Given the description of an element on the screen output the (x, y) to click on. 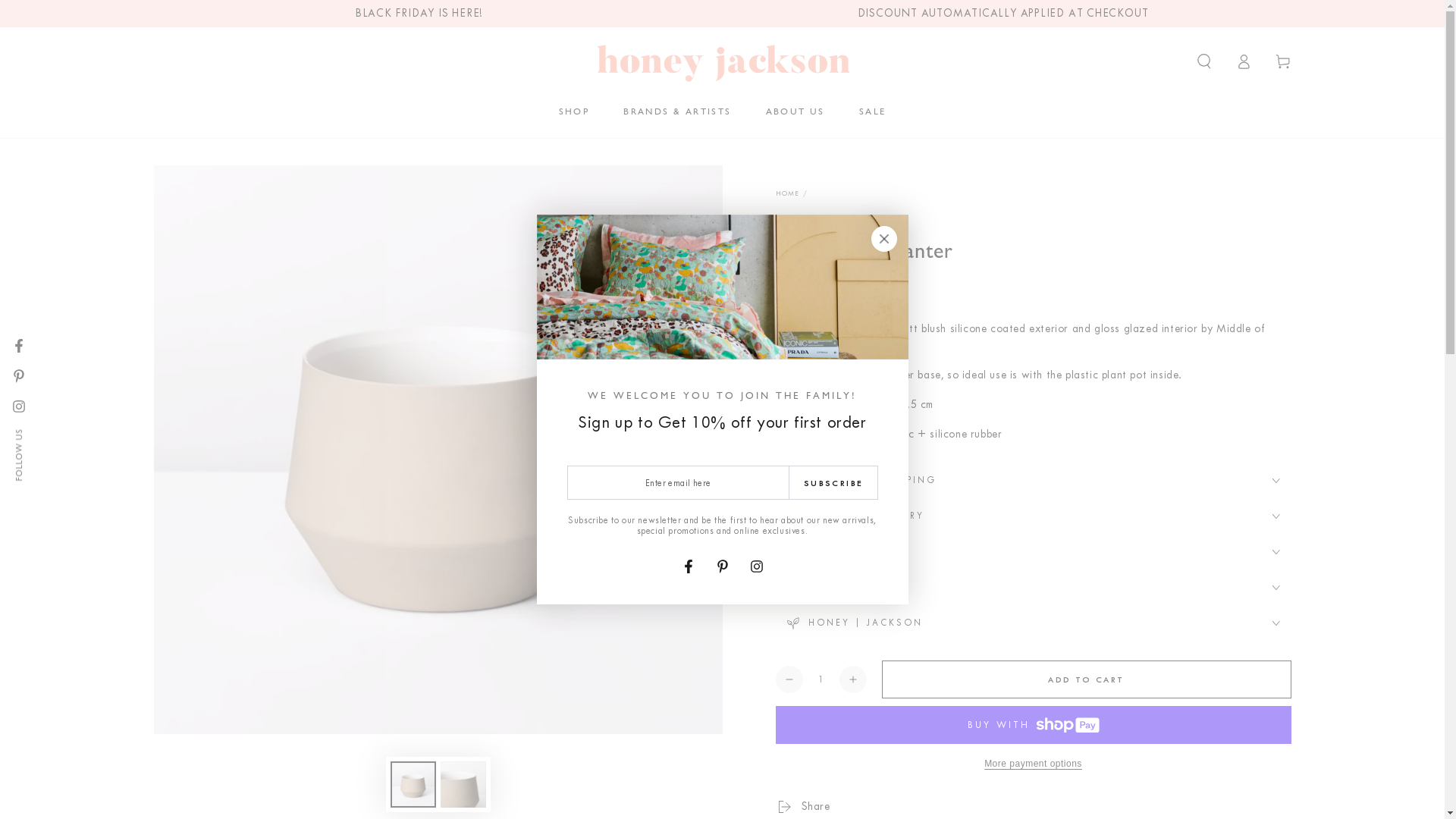
Honey Jackson Delivery Element type: hover (1077, 761)
More payment options Element type: text (1032, 763)
Increase quantity for Samso Sand Planter Element type: text (852, 679)
Facebook Element type: text (688, 566)
SHOP Element type: text (574, 111)
Honey Jackson Shipping Element type: hover (1042, 724)
Pinterest Element type: text (721, 566)
Log in Element type: text (1243, 61)
BLACK FRIDAY IS HERE! Element type: text (418, 13)
DISCOUNT AUTOMATICALLY APPLIED AT CHECKOUT Element type: text (1002, 13)
BRANDS & ARTISTS Element type: text (676, 111)
Instagram Element type: text (18, 406)
ADD TO CART Element type: text (1085, 679)
HOME Element type: text (787, 193)
SALE Element type: text (872, 111)
MIDDLE OF NOWHERE Element type: text (819, 224)
Instagram Element type: text (756, 566)
Open media 1 in modal Element type: text (437, 449)
Honey Jackson Returns Element type: hover (1109, 743)
SUBSCRIBE Element type: text (833, 482)
Decrease quantity for Samso Sand Planter Element type: text (788, 679)
Pinterest Element type: text (18, 375)
ABOUT US Element type: text (795, 111)
SKIP TO PRODUCT INFORMATION Element type: text (244, 183)
Facebook Element type: text (18, 345)
